Given the description of an element on the screen output the (x, y) to click on. 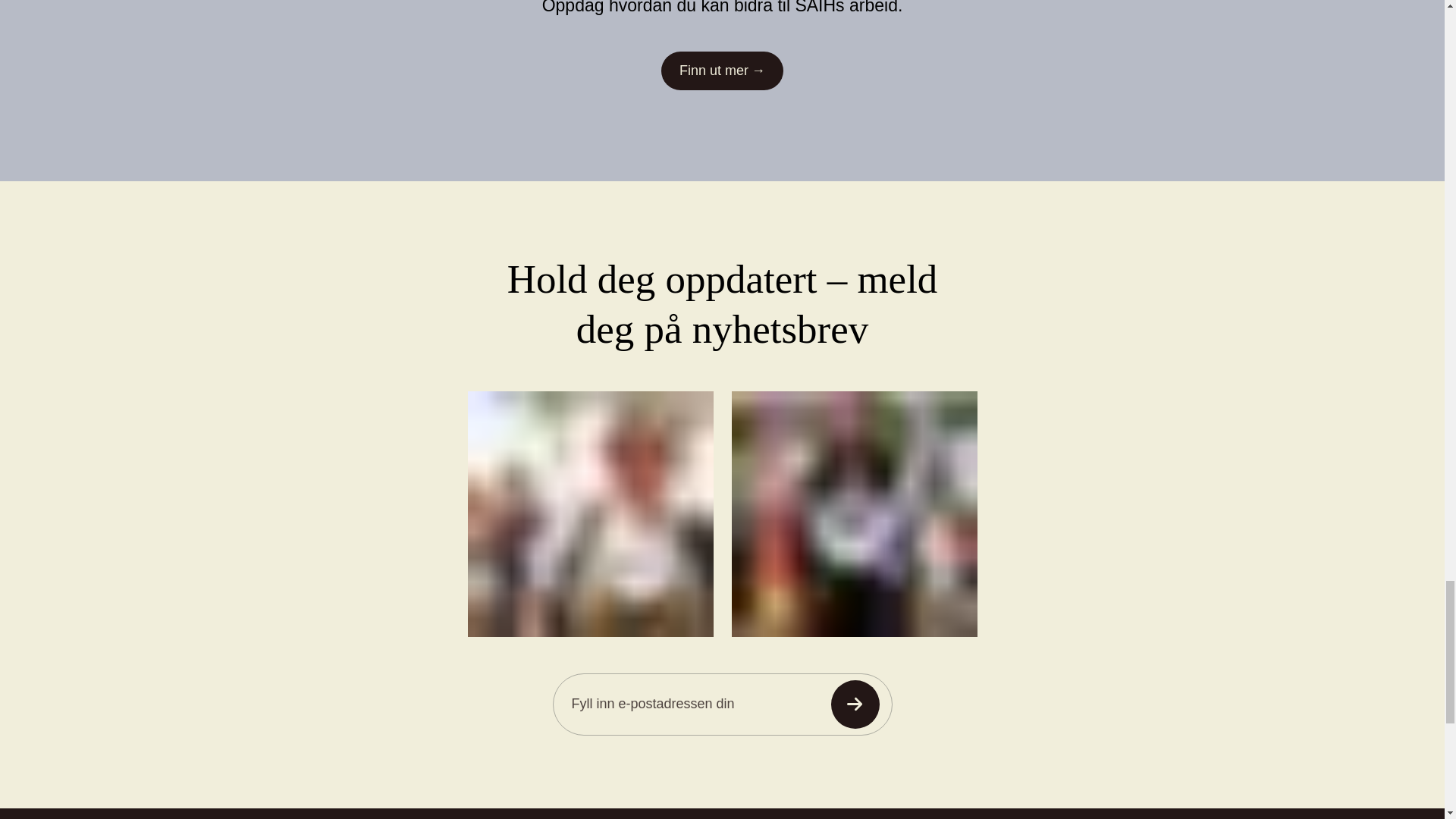
Send inn (855, 704)
